Given the description of an element on the screen output the (x, y) to click on. 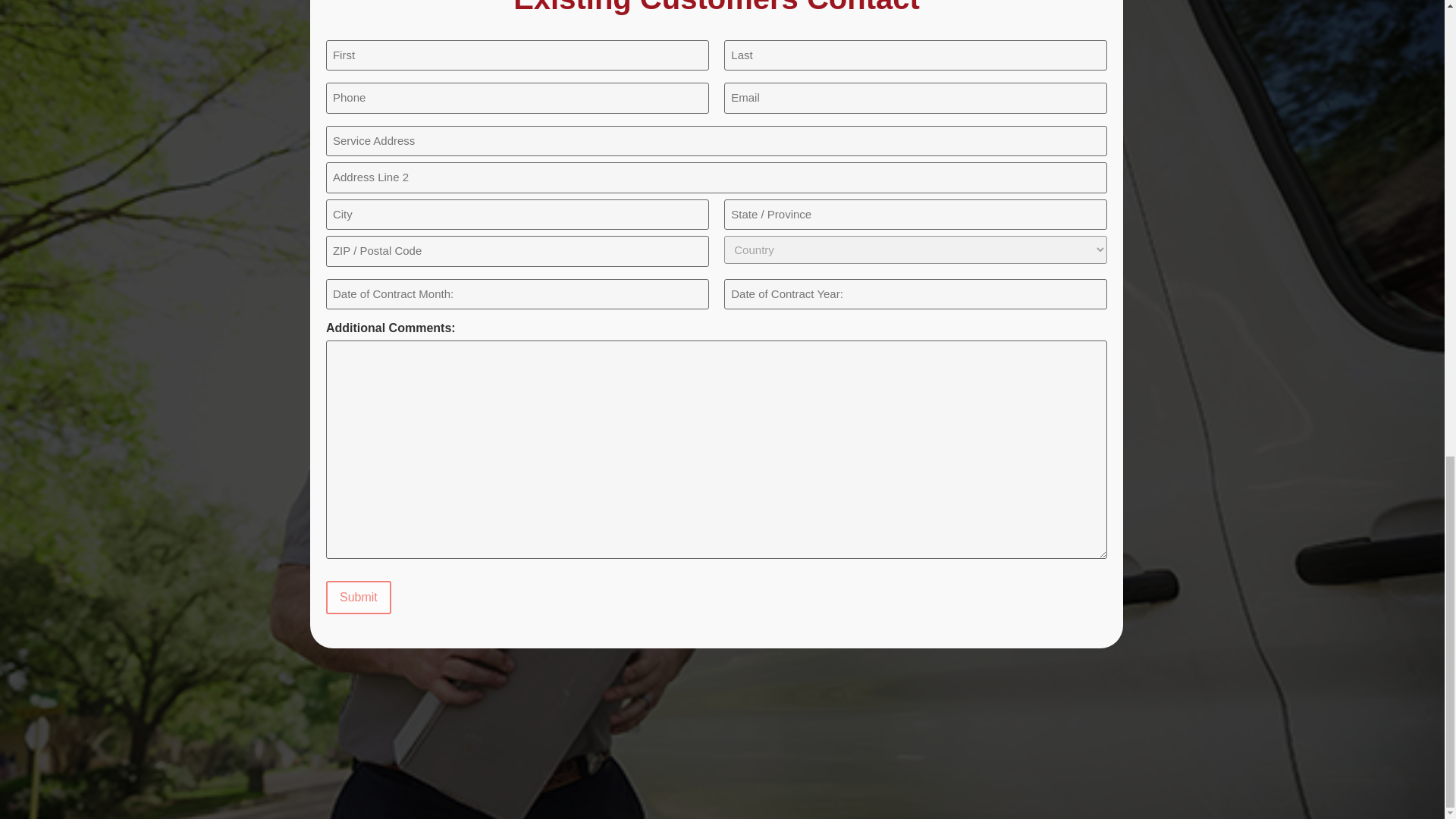
Submit (358, 597)
Submit (358, 597)
